Given the description of an element on the screen output the (x, y) to click on. 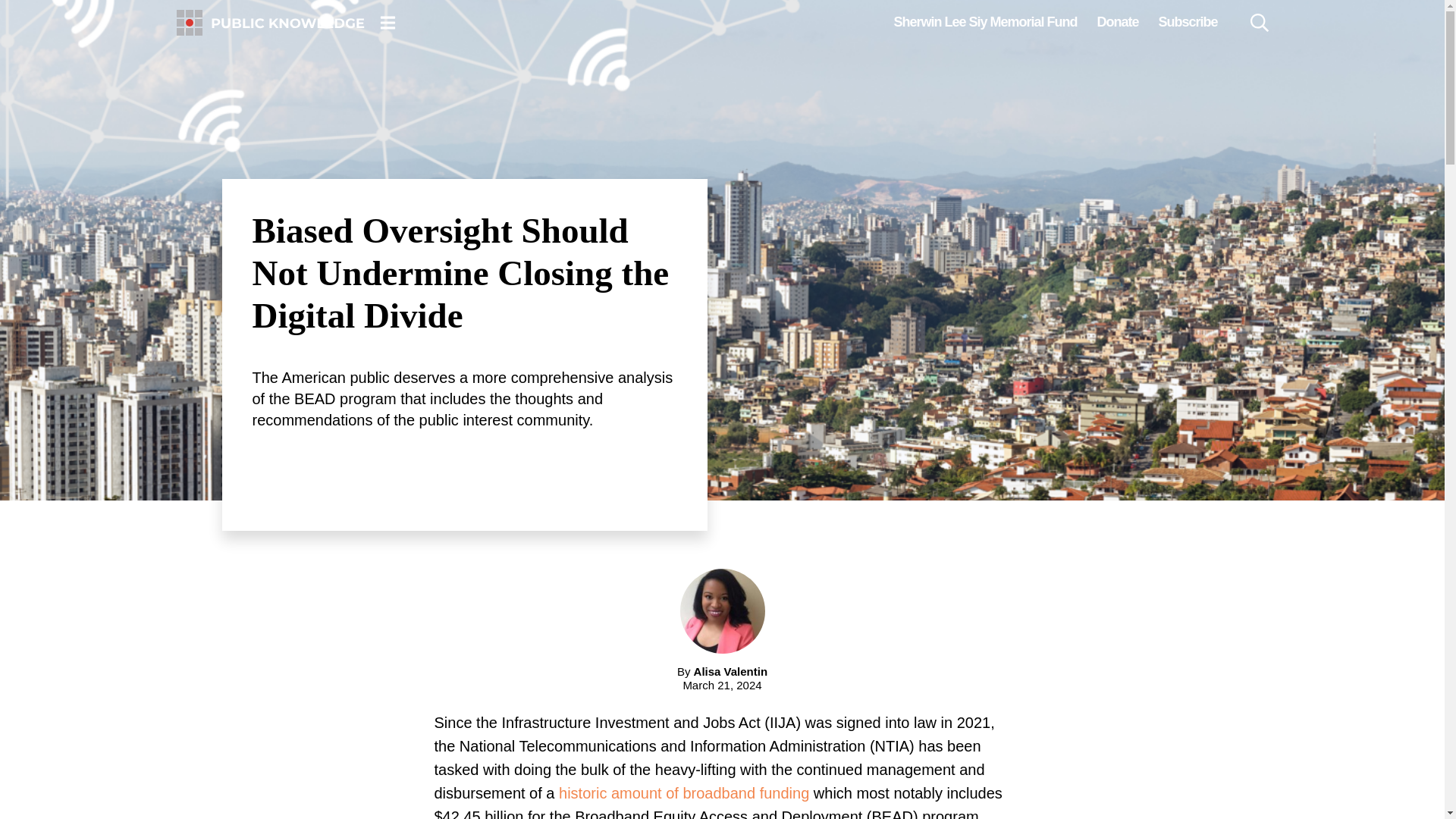
Donate (1117, 22)
Subscribe (1187, 22)
Public Knowledge (270, 22)
historic amount of broadband funding (684, 792)
Sherwin Lee Siy Memorial Fund (984, 22)
Donate (1117, 22)
Subscribe (1187, 22)
Sherwin Lee Siy Memorial Fund (984, 22)
